Given the description of an element on the screen output the (x, y) to click on. 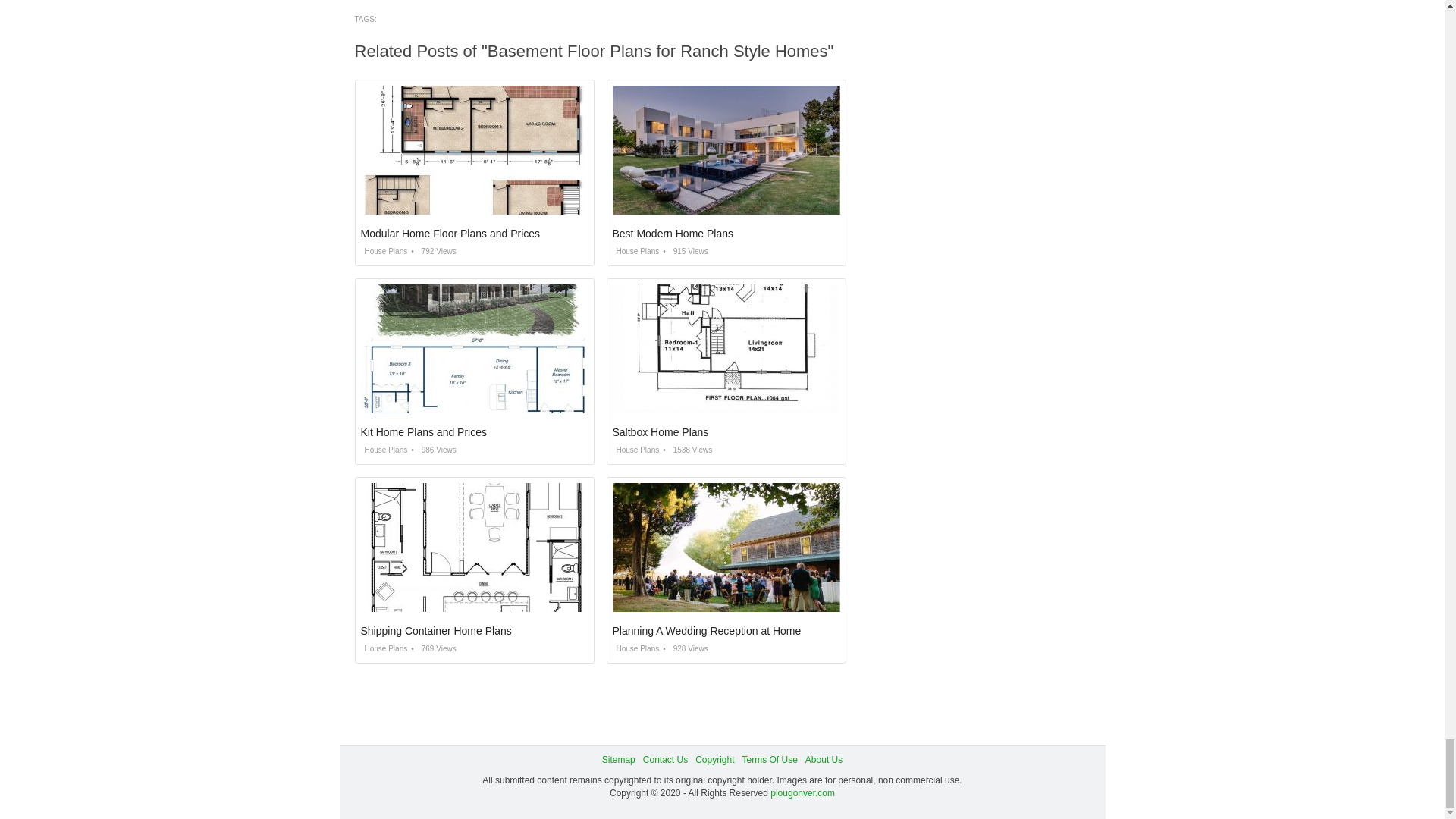
House Plans (384, 449)
Saltbox Home Plans (660, 431)
House Plans (635, 251)
Modular Home Floor Plans and Prices (450, 233)
House Plans (384, 251)
Best Modern Home Plans (672, 233)
Kit Home Plans and Prices (424, 431)
